Given the description of an element on the screen output the (x, y) to click on. 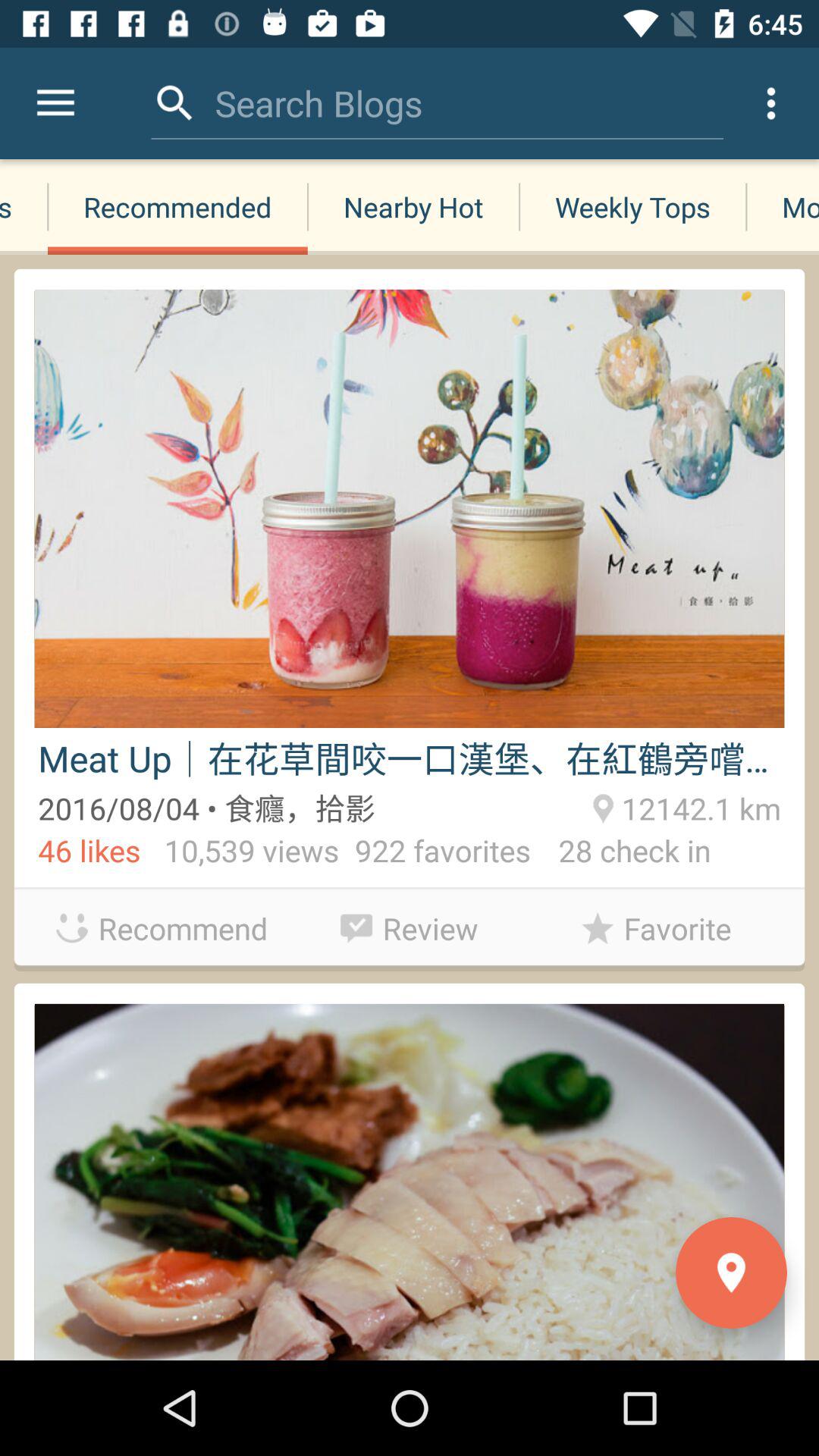
click favorite app (656, 928)
